Given the description of an element on the screen output the (x, y) to click on. 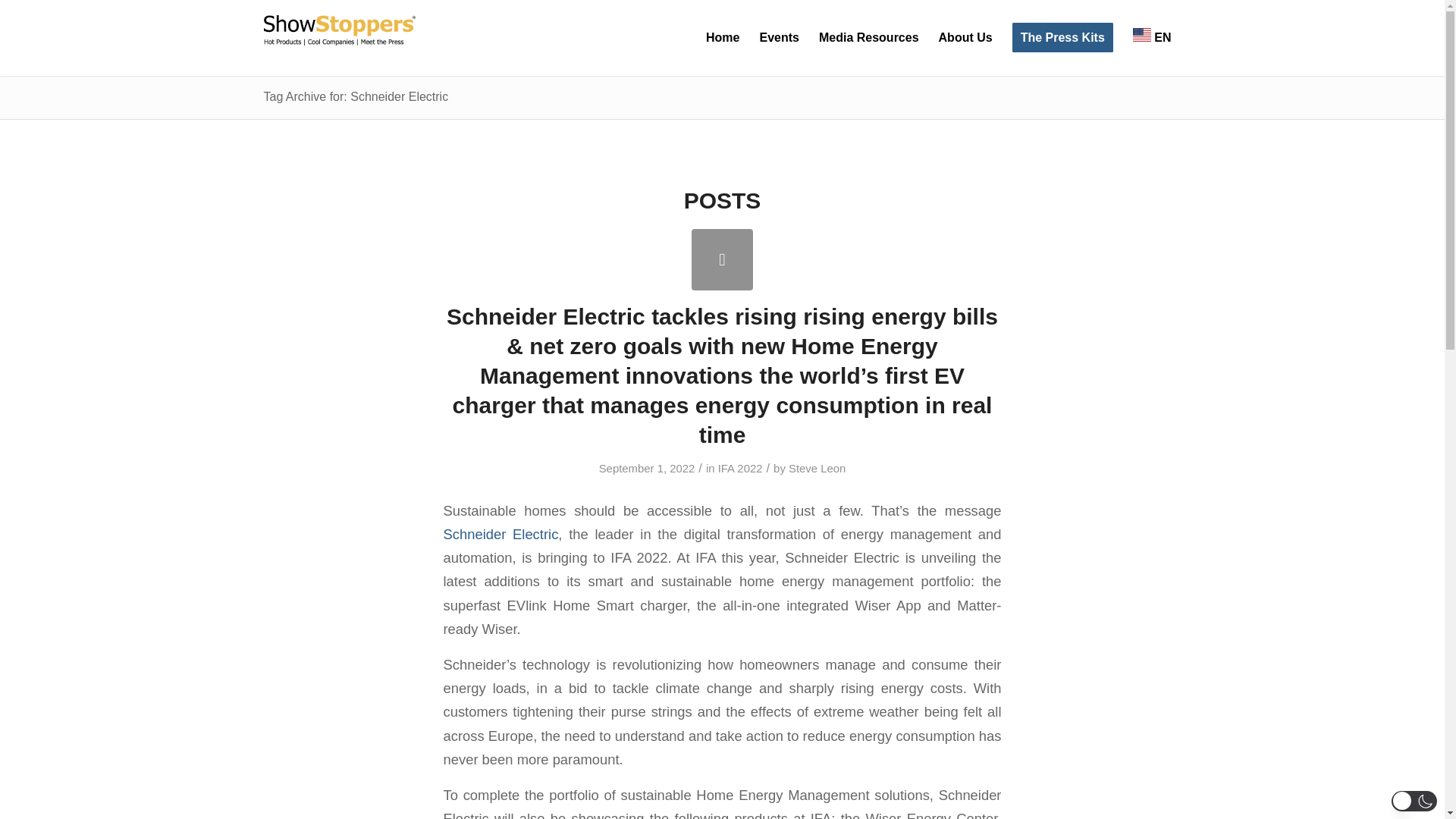
IFA 2022 (739, 468)
Steve Leon (817, 468)
About Us (965, 38)
The Press Kits (1062, 38)
Schneider Electric (499, 534)
Permanent Link: Tag Archive for: Schneider Electric (355, 96)
Tag Archive for: Schneider Electric (355, 96)
Media Resources (868, 38)
Posts by Steve Leon (817, 468)
